Given the description of an element on the screen output the (x, y) to click on. 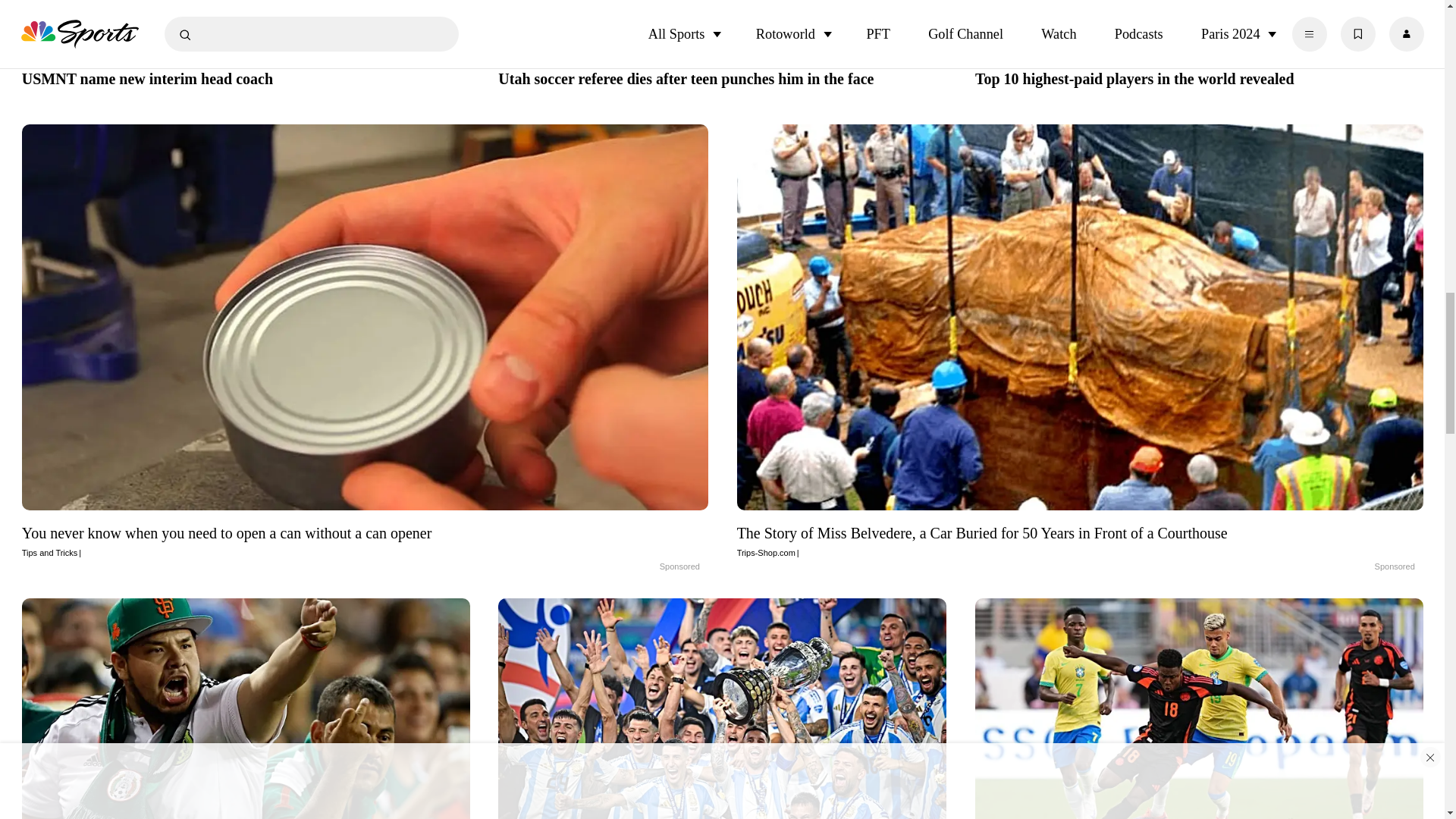
Top 10 highest-paid players in the world revealed (1199, 76)
USMNT name new interim head coach (245, 76)
Utah soccer referee dies after teen punches him in the face (721, 76)
